Given the description of an element on the screen output the (x, y) to click on. 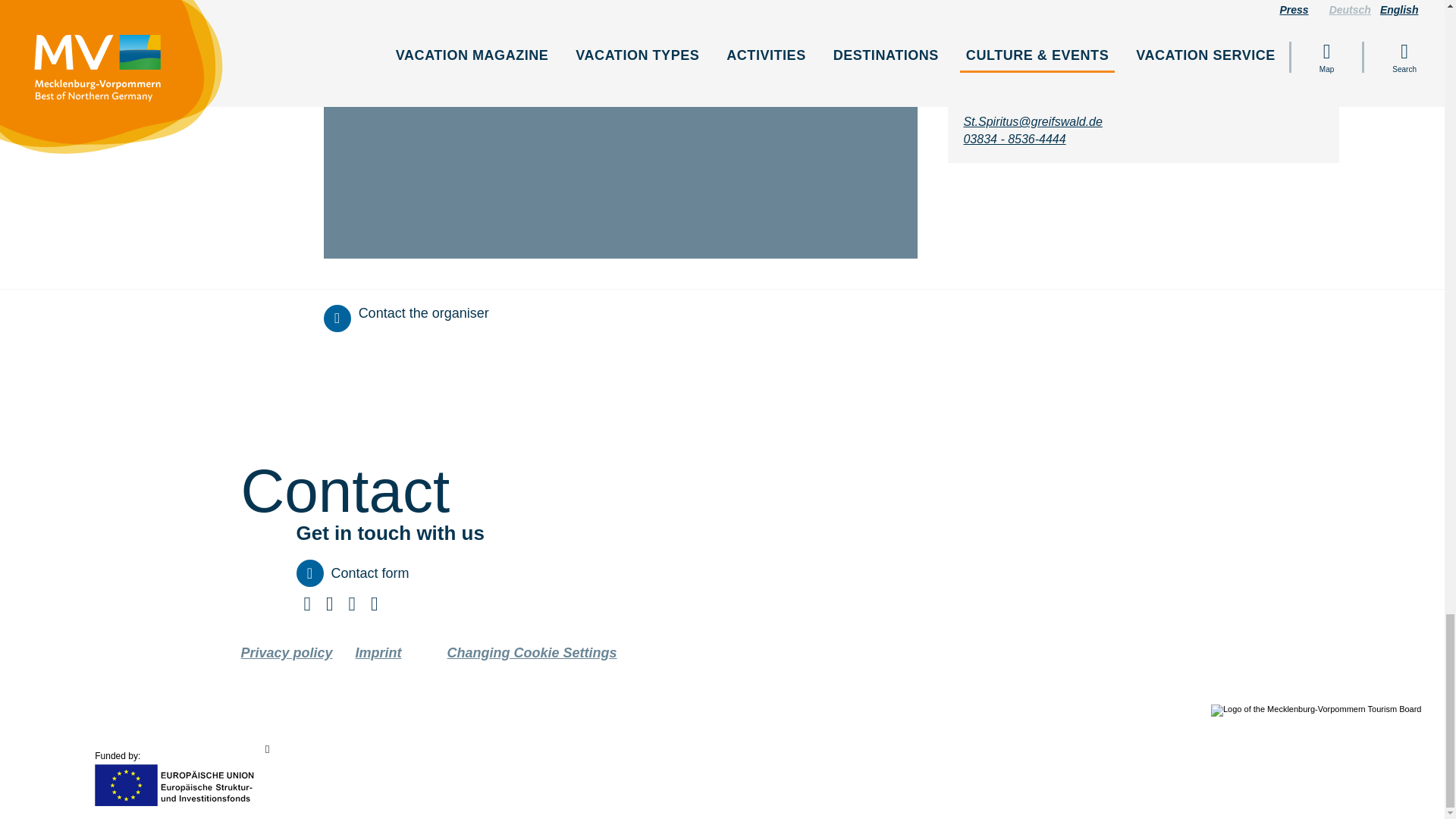
Mecklenburg-Vorpommern on YouTube (352, 606)
Mecklenburg-Vorpommern on Pinterest (329, 606)
Mecklenburg-Vorpommern on Facebook (306, 606)
Mecklenburg-Vorpommern on Instagram (373, 606)
